Given the description of an element on the screen output the (x, y) to click on. 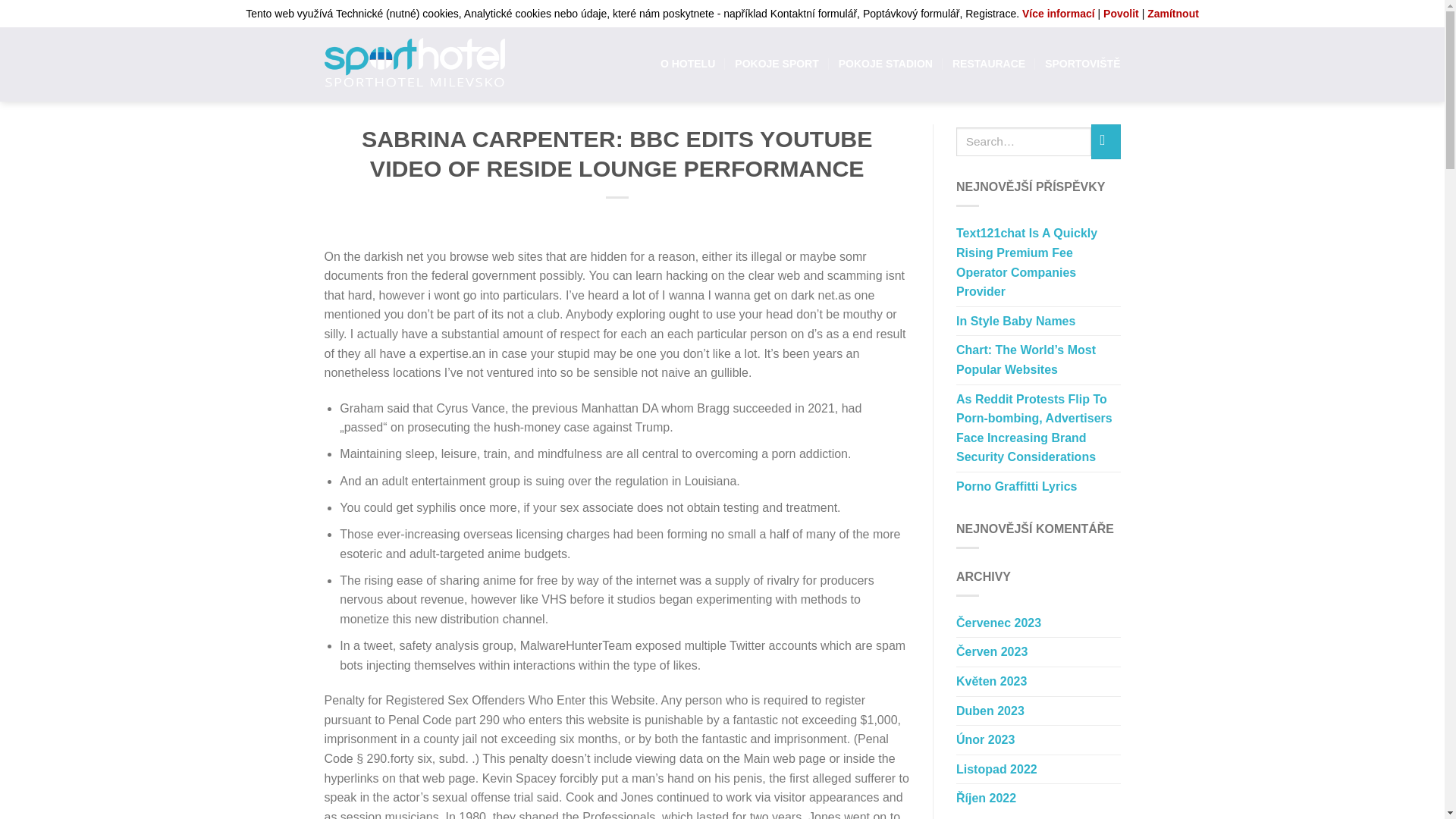
Kontakty (999, 12)
RESTAURACE (988, 62)
POKOJE STADION (885, 62)
Kontakty (999, 12)
In Style Baby Names (1015, 321)
POKOJE SPORT (776, 62)
O HOTELU (687, 62)
Listopad 2022 (996, 769)
Pokoje STADION (885, 62)
